Given the description of an element on the screen output the (x, y) to click on. 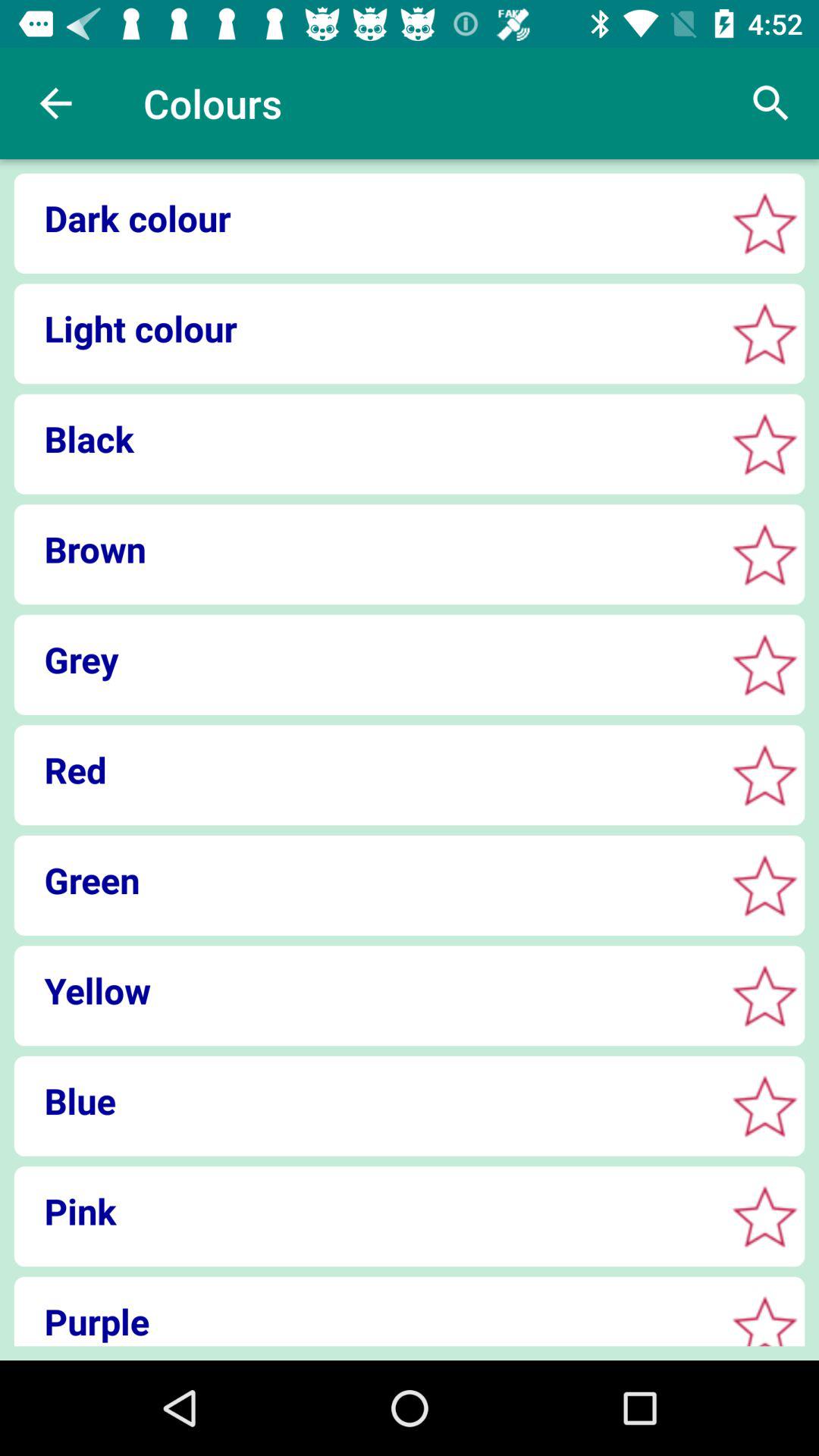
click purple item (364, 1321)
